Given the description of an element on the screen output the (x, y) to click on. 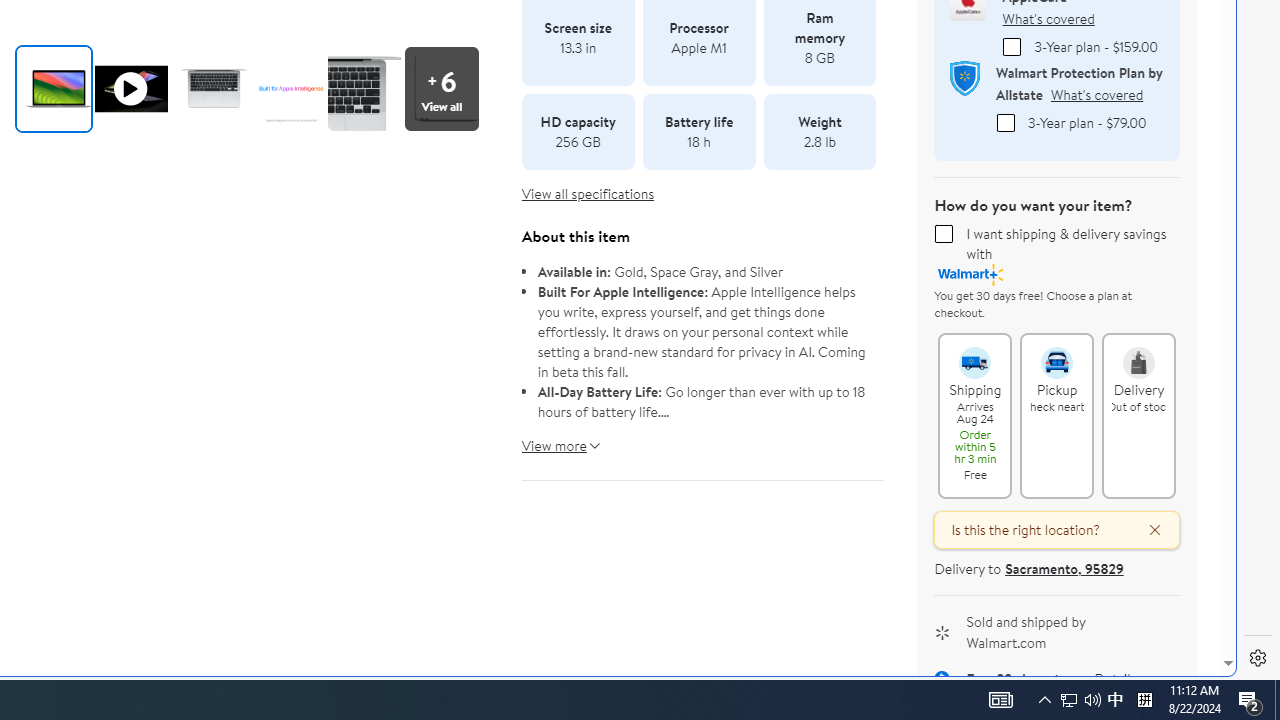
Pickup Check nearby Pickup Check nearby (1057, 415)
